Given the description of an element on the screen output the (x, y) to click on. 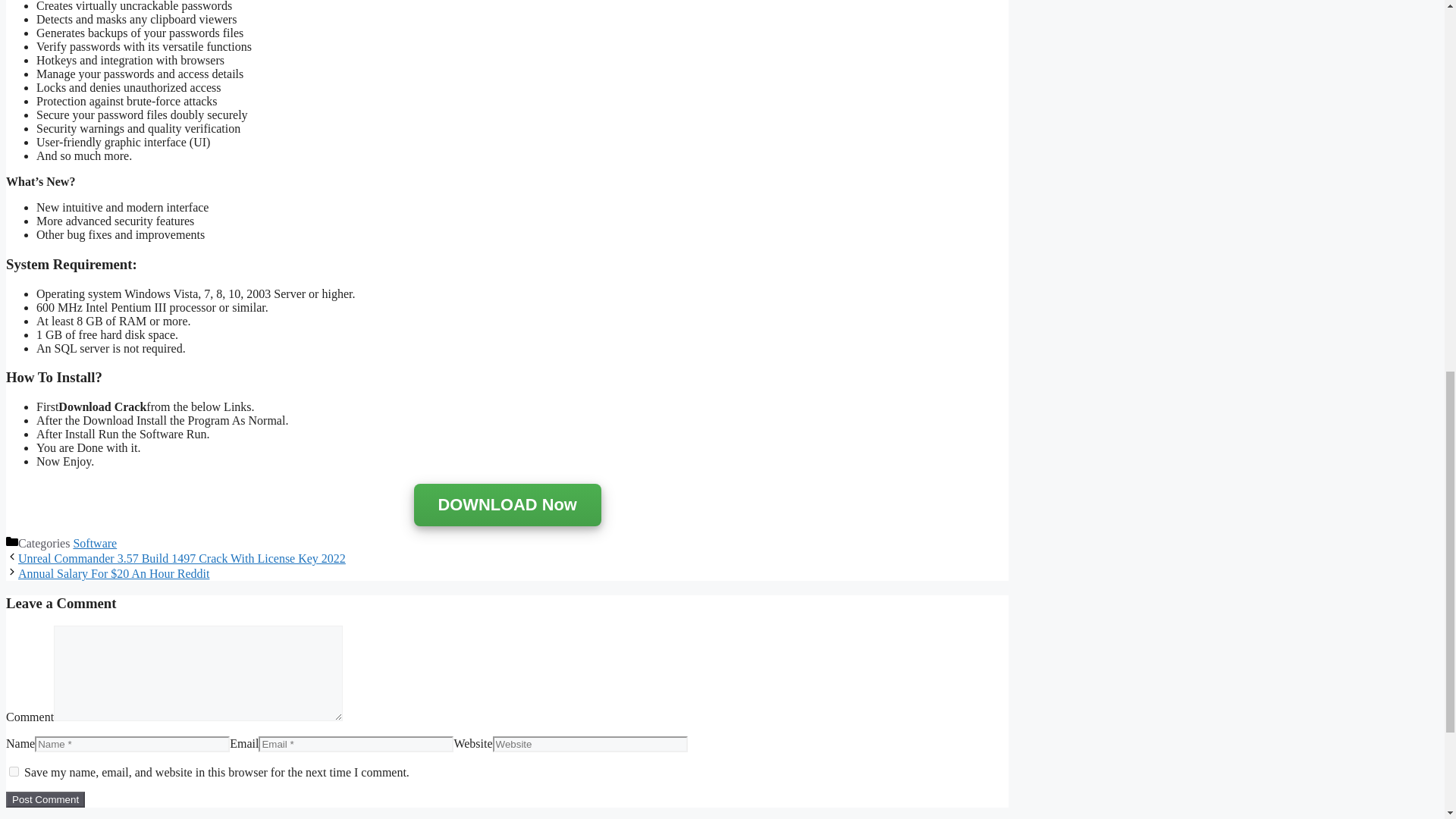
Post Comment (44, 799)
Software (94, 543)
yes (13, 771)
DOWNLOAD Now (507, 505)
Unreal Commander 3.57 Build 1497 Crack With License Key 2022 (181, 558)
Post Comment (44, 799)
DOWNLOAD Now (507, 505)
